Given the description of an element on the screen output the (x, y) to click on. 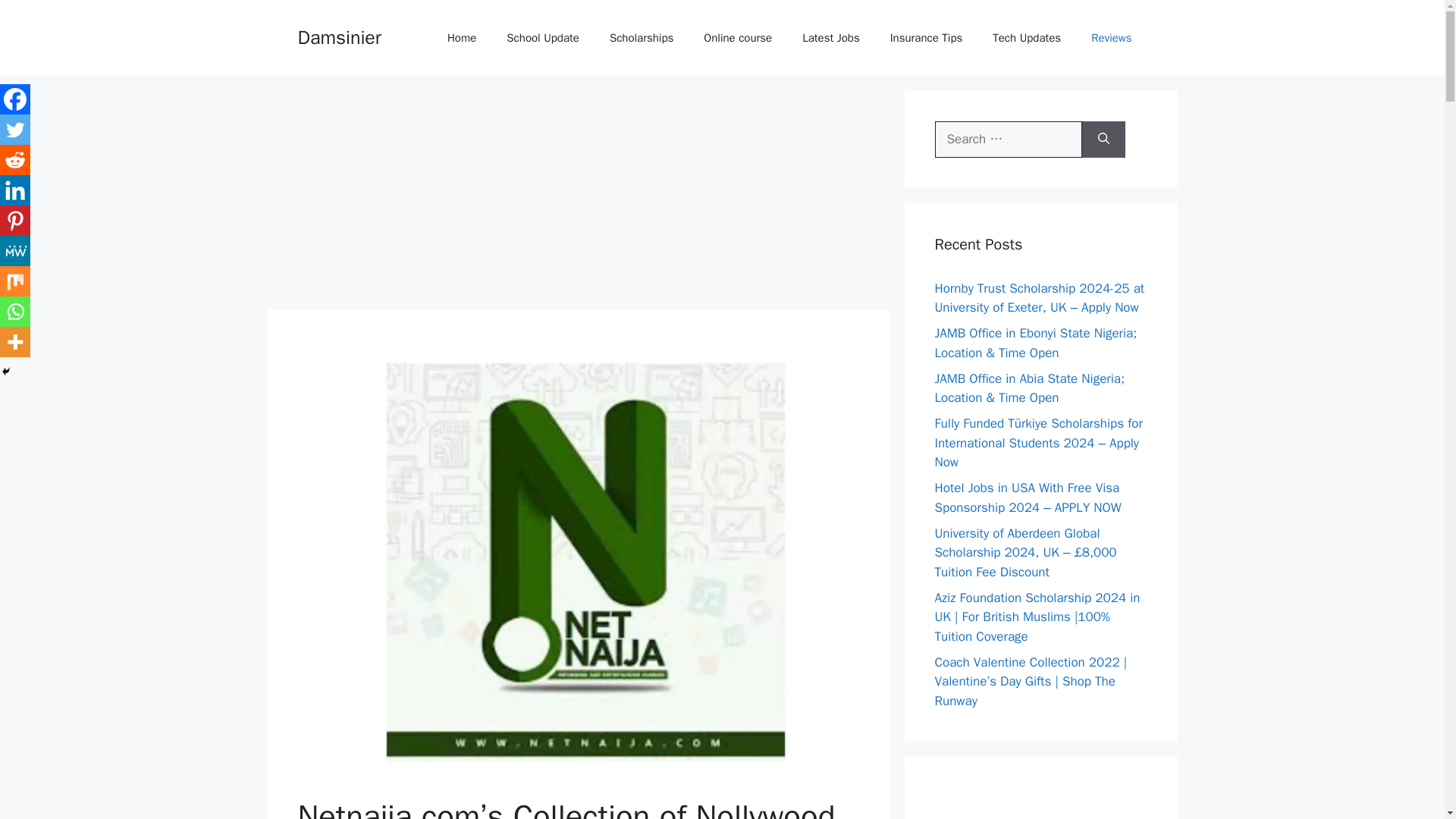
Insurance Tips (926, 37)
Reviews (1111, 37)
Damsinier (338, 37)
Advertisement (577, 196)
Scholarships (641, 37)
Latest Jobs (831, 37)
School Update (543, 37)
Home (462, 37)
Online course (737, 37)
Tech Updates (1025, 37)
